Given the description of an element on the screen output the (x, y) to click on. 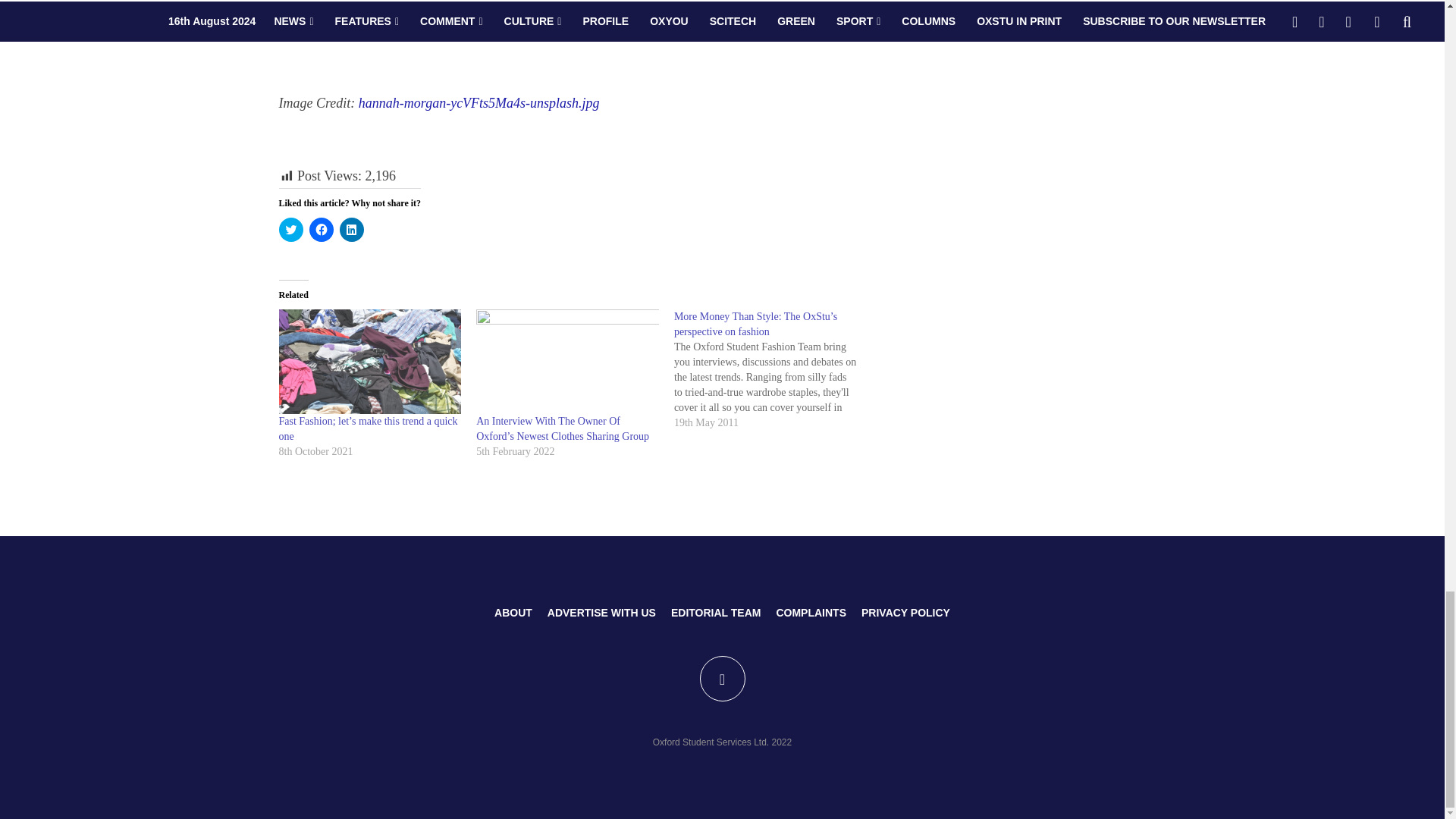
Click to share on Facebook (320, 229)
Click to share on Twitter (290, 229)
Click to share on LinkedIn (351, 229)
